Given the description of an element on the screen output the (x, y) to click on. 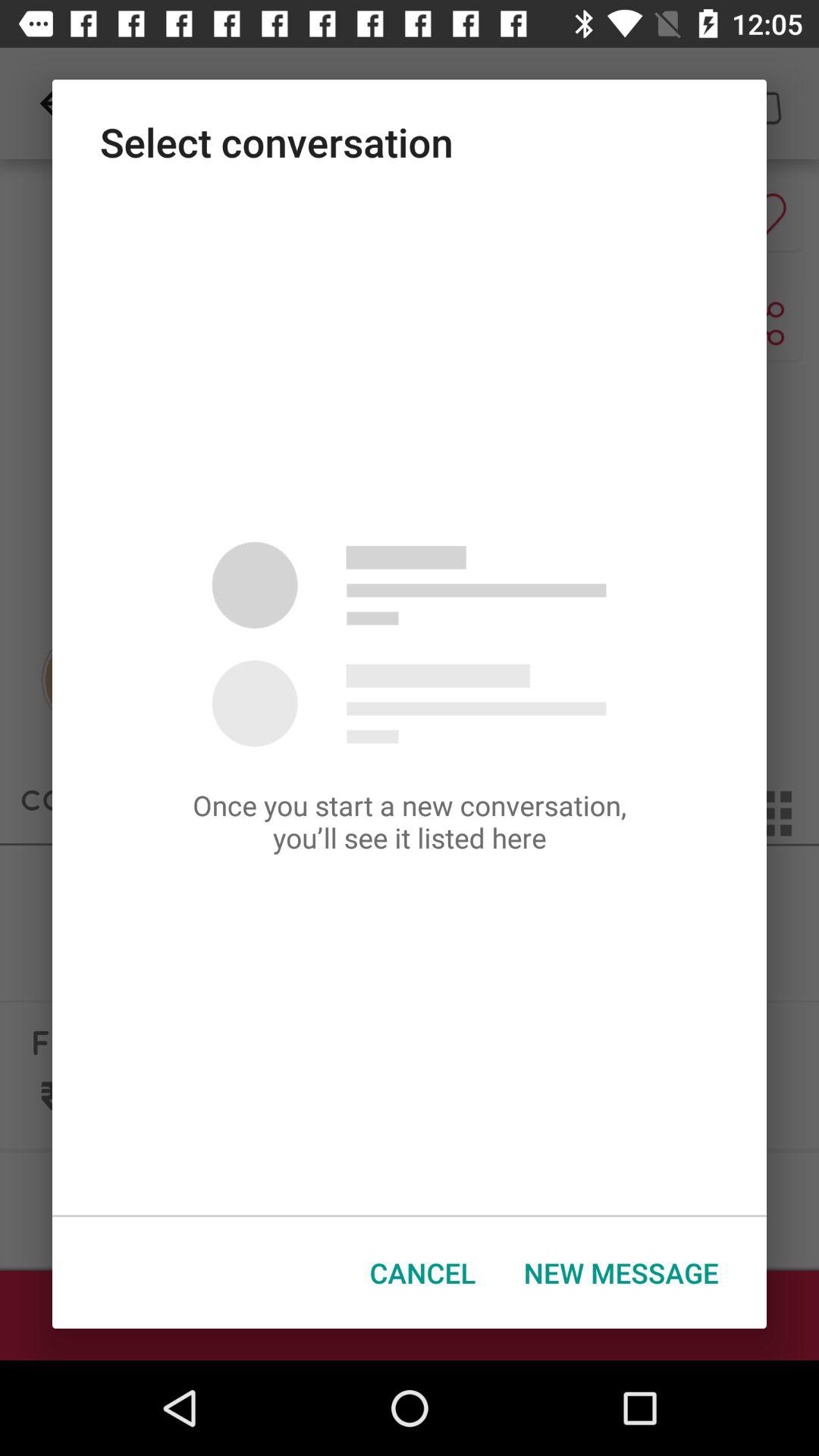
flip to new message (620, 1272)
